Given the description of an element on the screen output the (x, y) to click on. 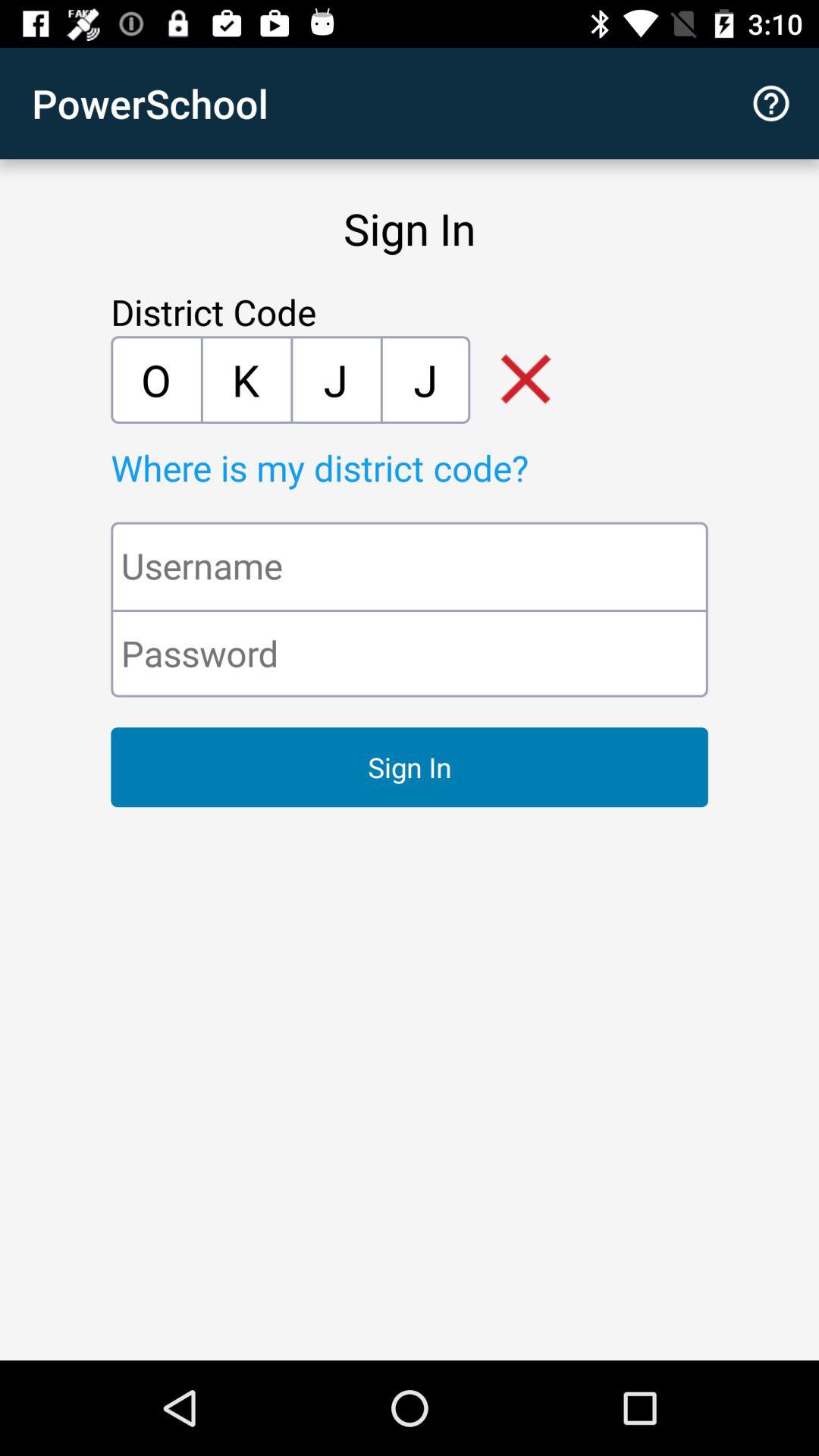
enter password (409, 653)
